Given the description of an element on the screen output the (x, y) to click on. 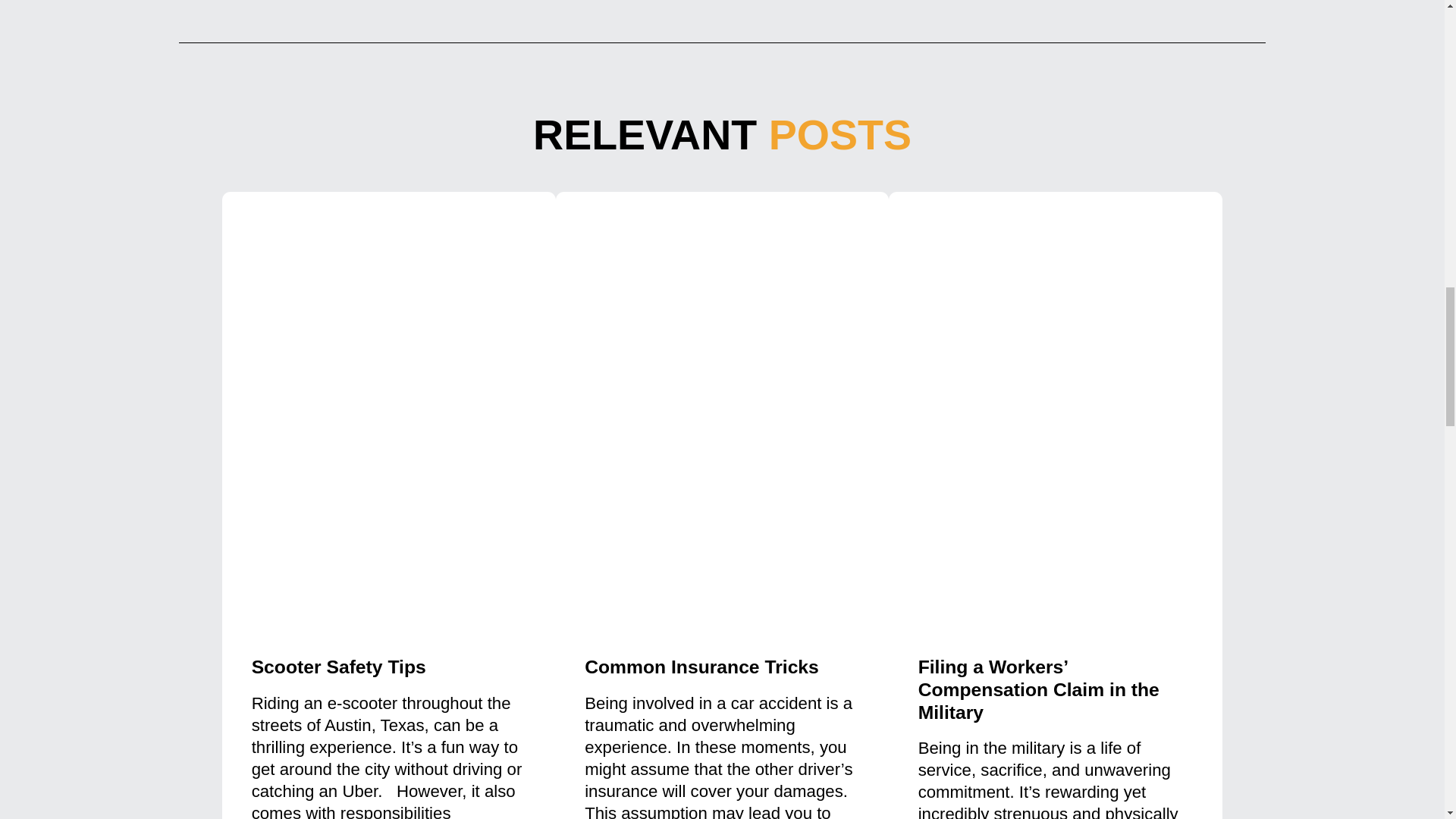
Common Insurance Tricks (701, 666)
Scooter Safety Tips (338, 666)
